Given the description of an element on the screen output the (x, y) to click on. 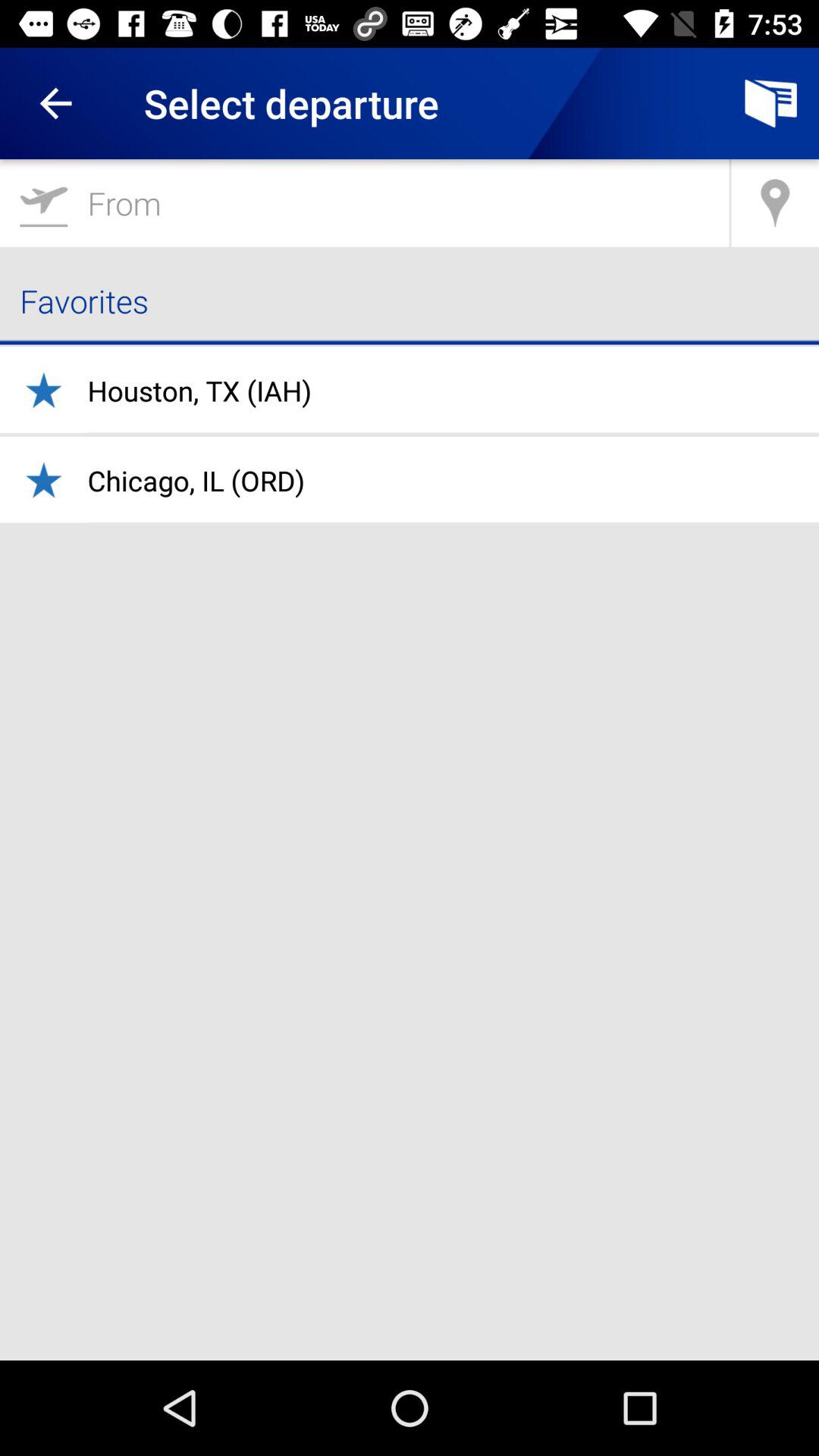
click icon below favorites (199, 390)
